Given the description of an element on the screen output the (x, y) to click on. 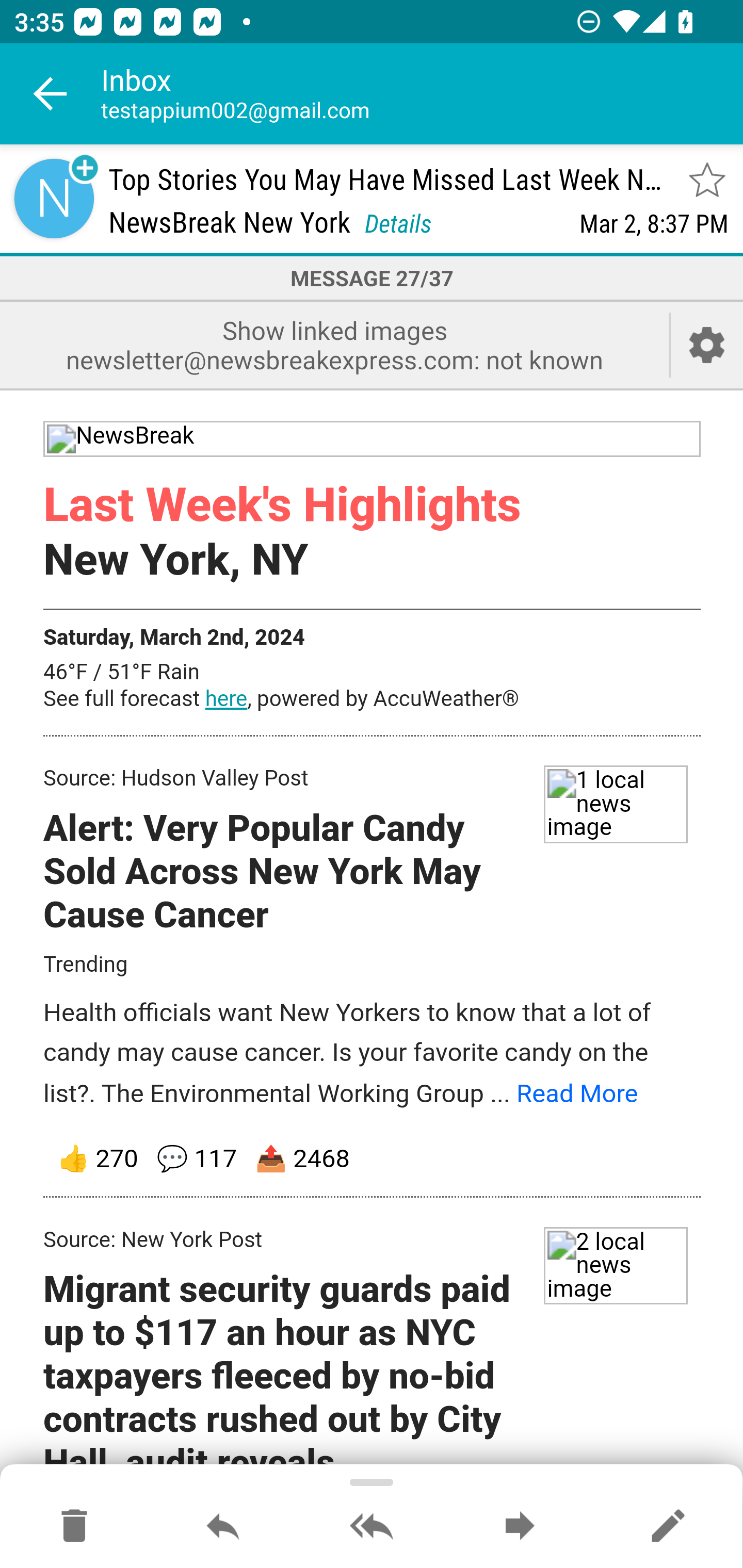
Navigate up (50, 93)
Inbox testappium002@gmail.com (422, 93)
Sender contact button (53, 198)
Account setup (706, 344)
here (225, 699)
👍 270   💬 117   📤 2468 (372, 1159)
Move to Deleted (74, 1527)
Reply (222, 1527)
Reply all (371, 1527)
Forward (519, 1527)
Reply as new (667, 1527)
